Given the description of an element on the screen output the (x, y) to click on. 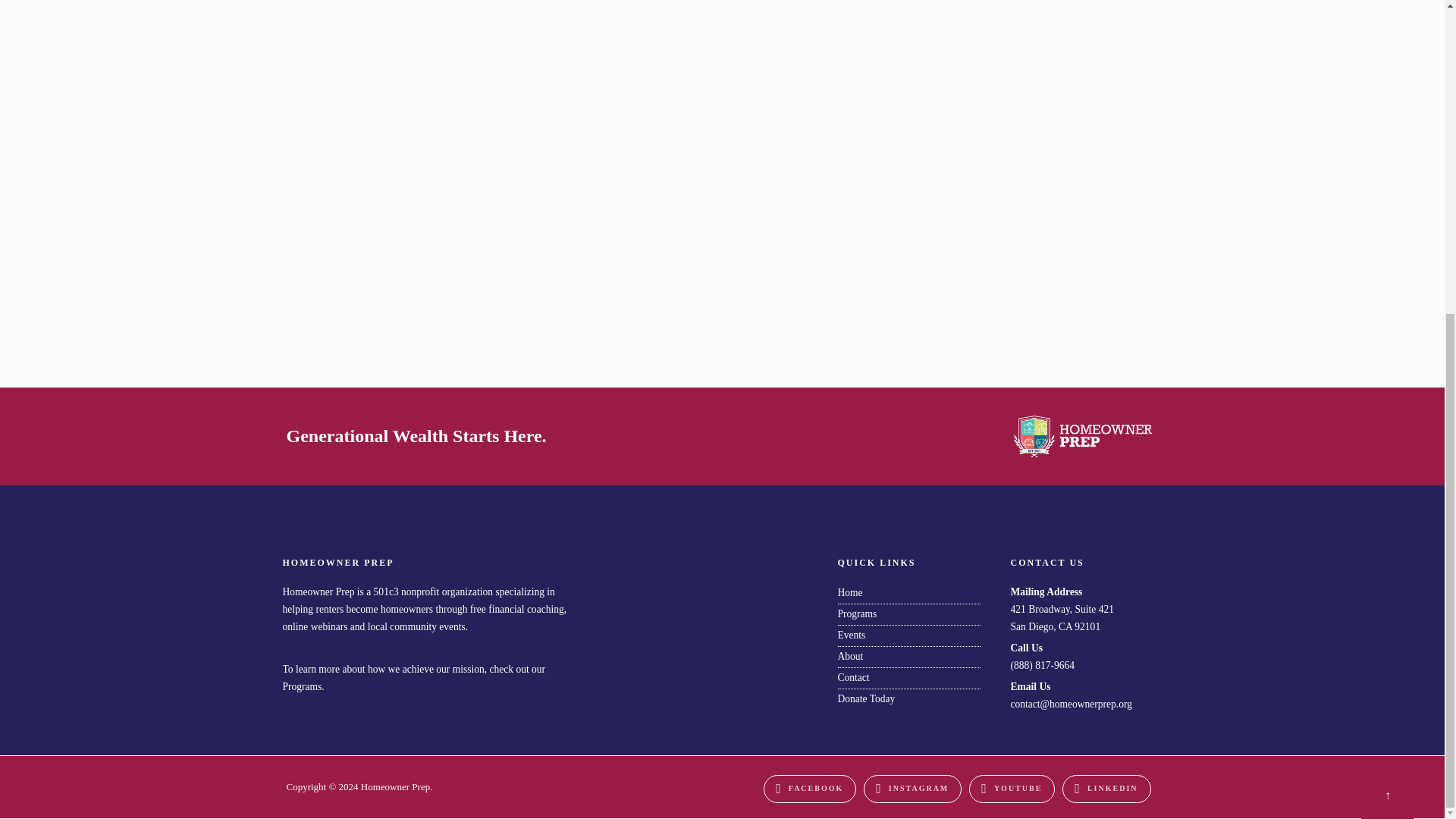
Contact (853, 677)
YOUTUBE (1011, 788)
Instagram (911, 788)
check out our Programs (413, 677)
LinkedIn (1106, 788)
About (850, 655)
Facebook (809, 788)
Programs (856, 613)
INSTAGRAM (911, 788)
LINKEDIN (1106, 788)
